Given the description of an element on the screen output the (x, y) to click on. 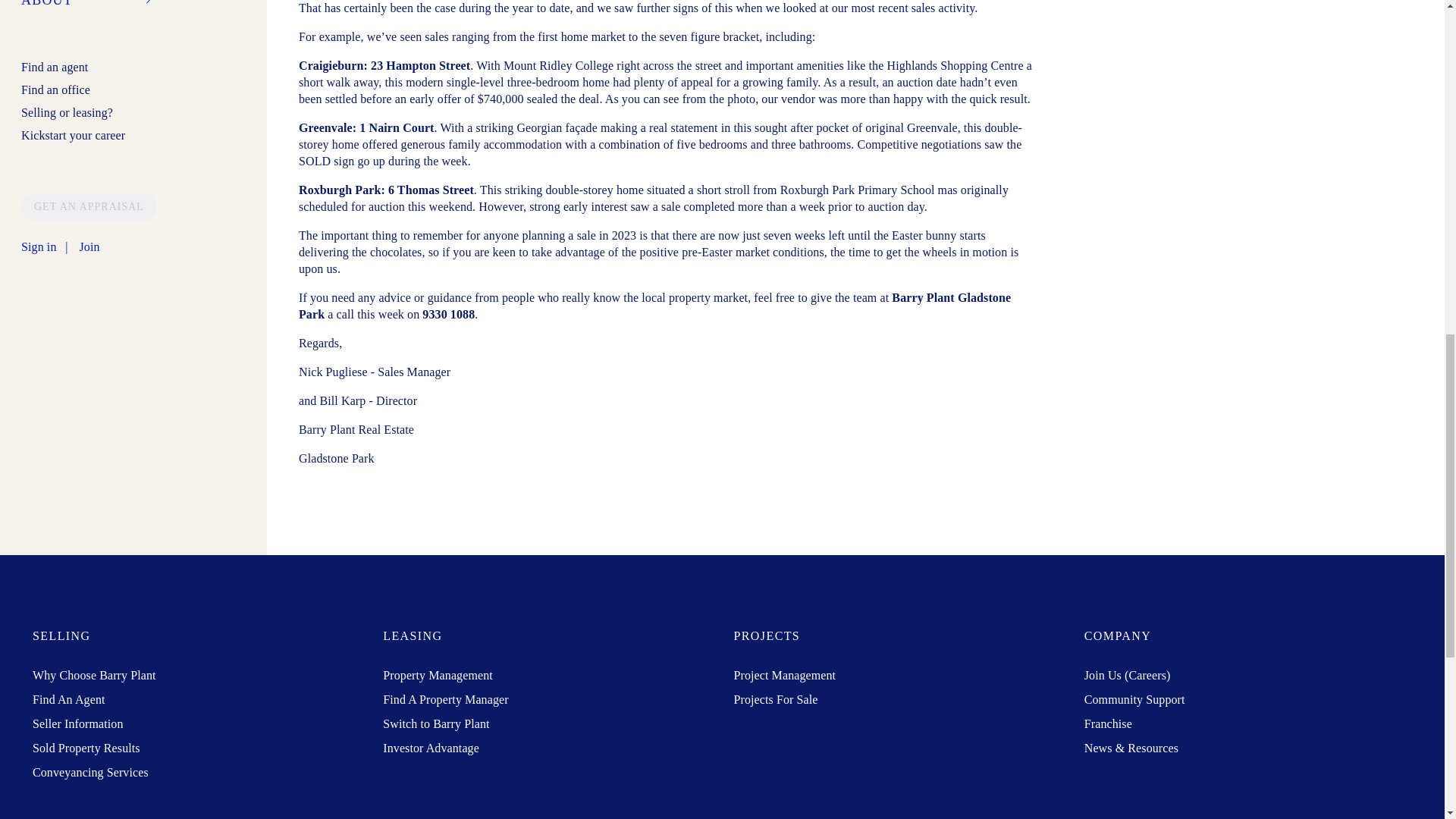
Find An Agent (68, 698)
Why Choose Barry Plant (93, 675)
